Given the description of an element on the screen output the (x, y) to click on. 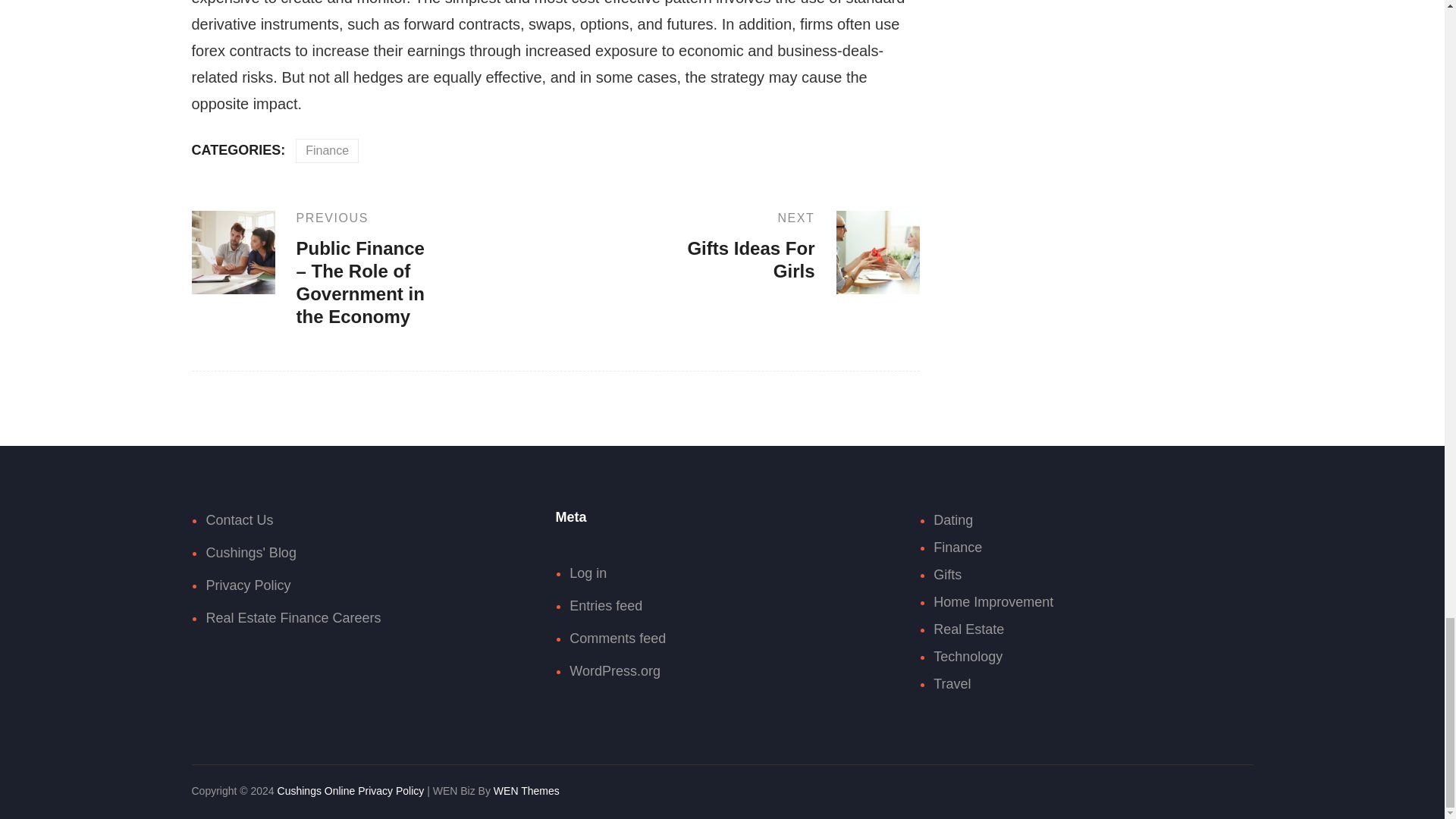
Finance (800, 246)
